Given the description of an element on the screen output the (x, y) to click on. 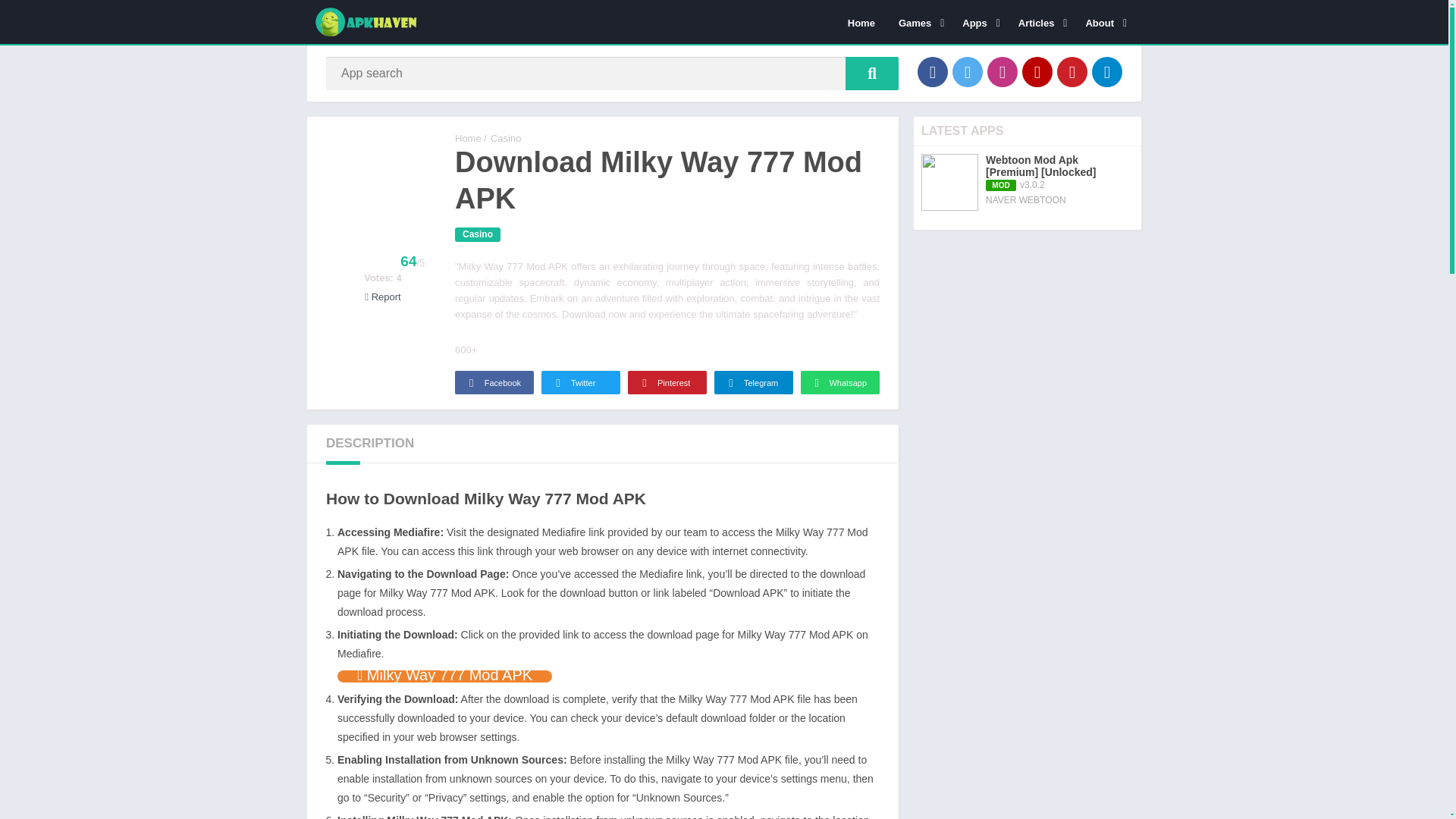
Apps (978, 22)
YouTube (1037, 71)
App search (871, 73)
Facebook (932, 71)
APK Haven (467, 138)
Games (918, 22)
Twitter (967, 71)
Telegram (1107, 71)
Pinterest (1072, 71)
Home (860, 22)
